Given the description of an element on the screen output the (x, y) to click on. 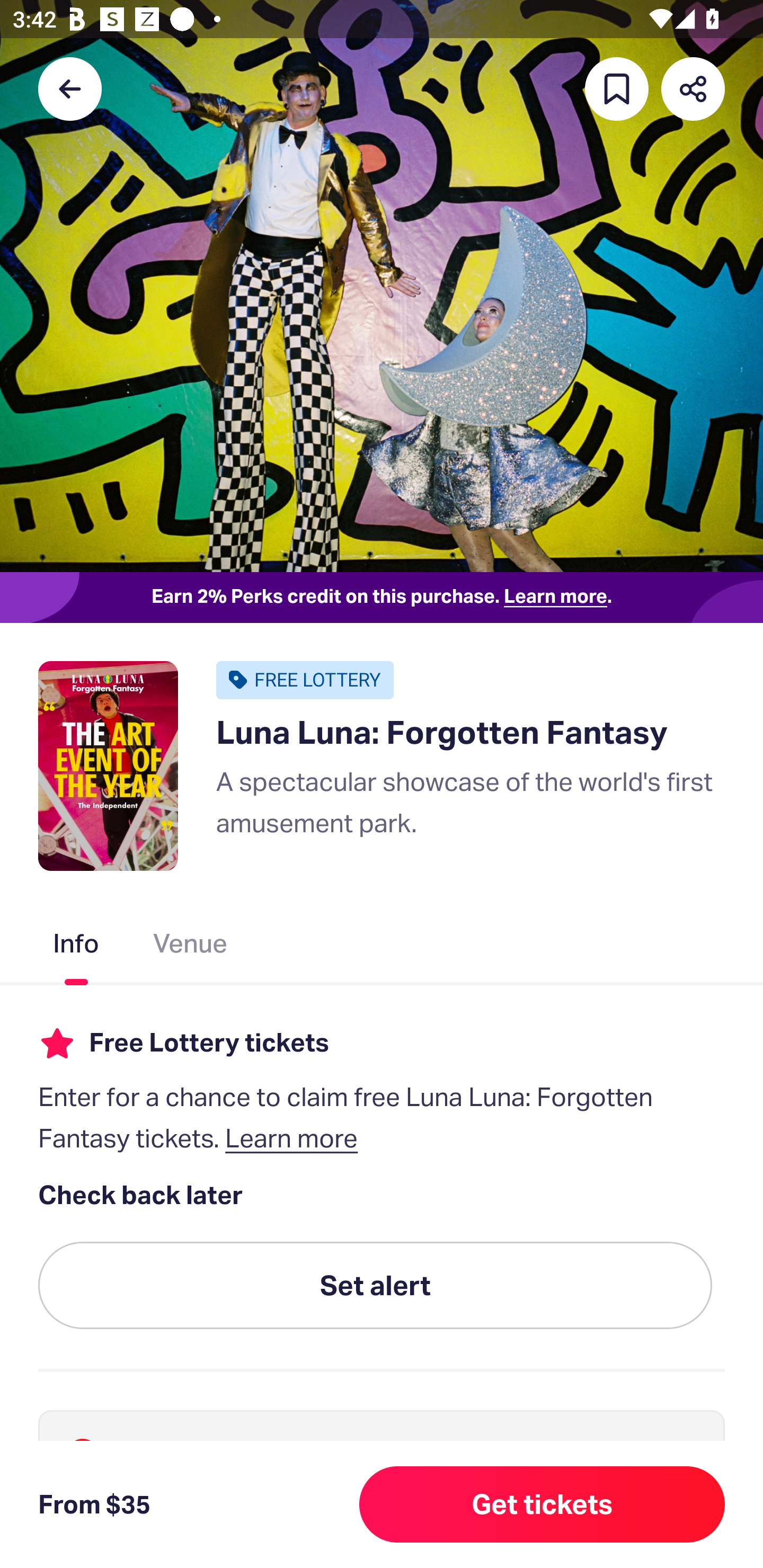
Earn 2% Perks credit on this purchase. Learn more. (381, 597)
Venue (190, 946)
Set alert (374, 1286)
Get tickets (541, 1504)
